Given the description of an element on the screen output the (x, y) to click on. 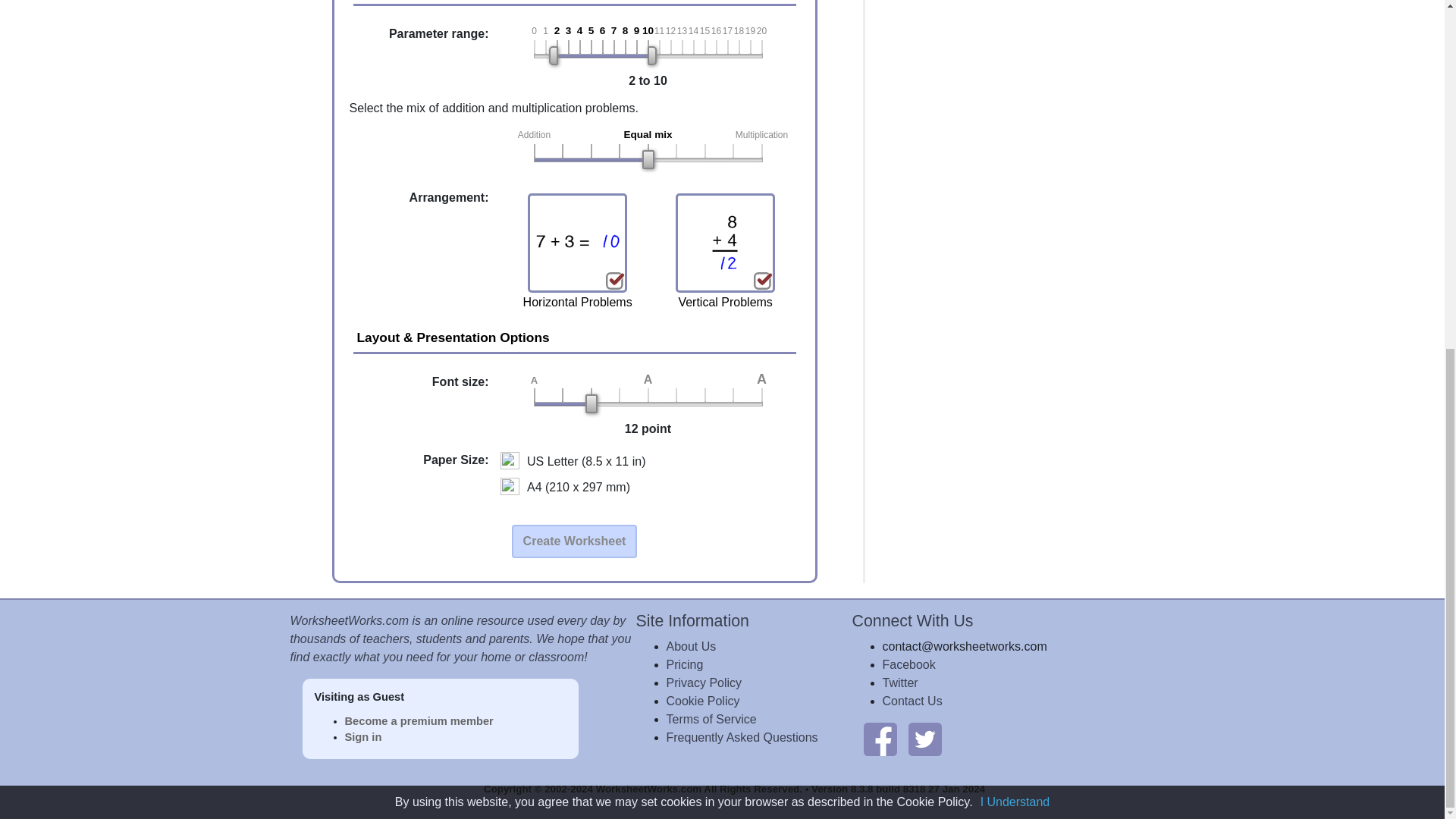
Contact Us (912, 700)
About Us (690, 645)
Cookie Policy (702, 700)
Become a premium member (418, 720)
Privacy Policy (703, 682)
Create Worksheet (574, 540)
Frequently Asked Questions (740, 737)
Sign in (362, 736)
Twitter (900, 682)
Facebook (909, 664)
Terms of Service (710, 718)
I Understand (1014, 199)
Pricing (684, 664)
